Given the description of an element on the screen output the (x, y) to click on. 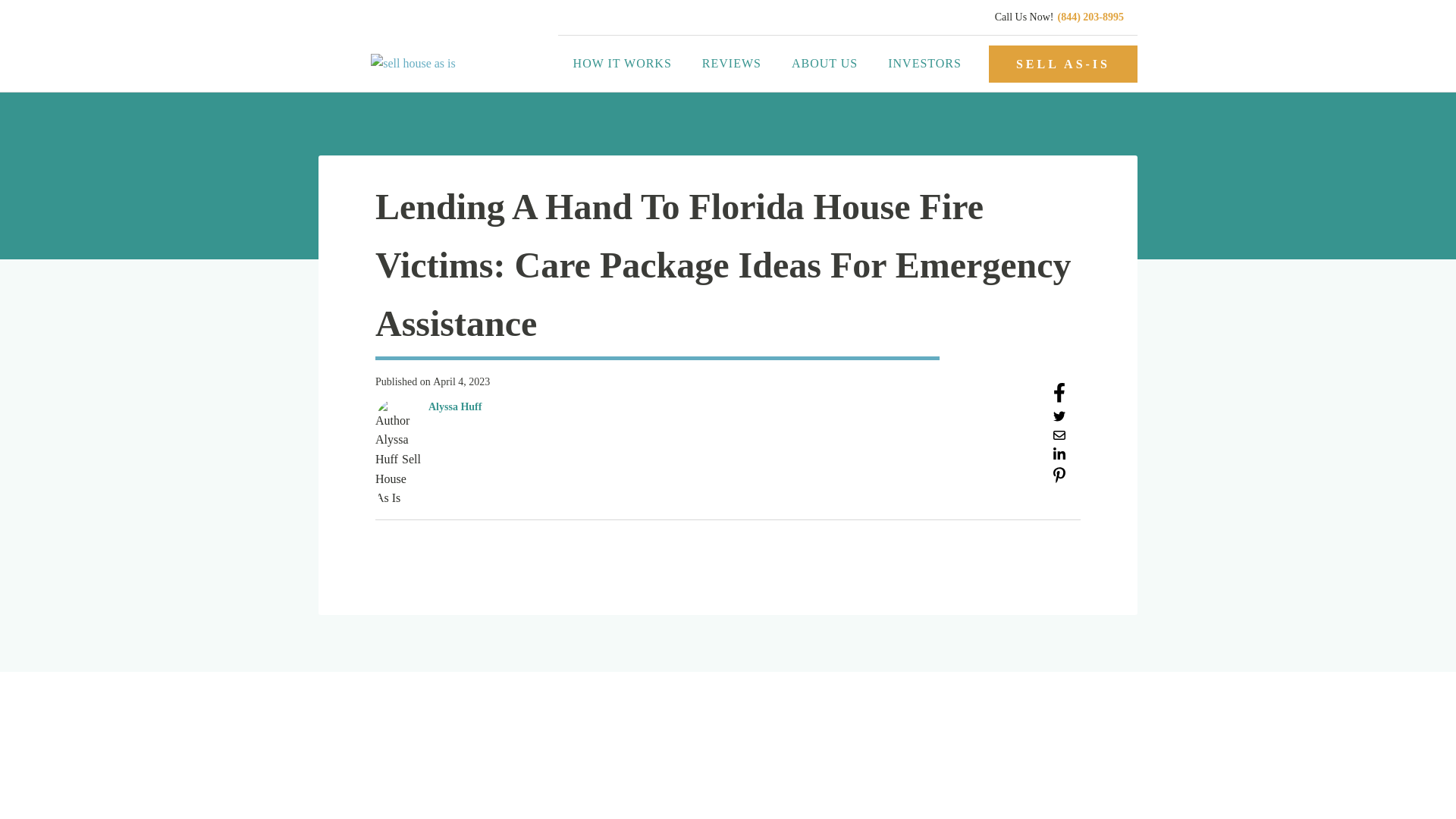
REVIEWS (731, 63)
INVESTORS (924, 63)
Alyssa Huff (454, 406)
ABOUT US (824, 63)
Share via Email (1058, 436)
Share on Facebook (1058, 398)
Share on LinkedIn (1058, 456)
SELL AS-IS (1062, 63)
HOW IT WORKS (622, 63)
Pin it (1058, 478)
